Given the description of an element on the screen output the (x, y) to click on. 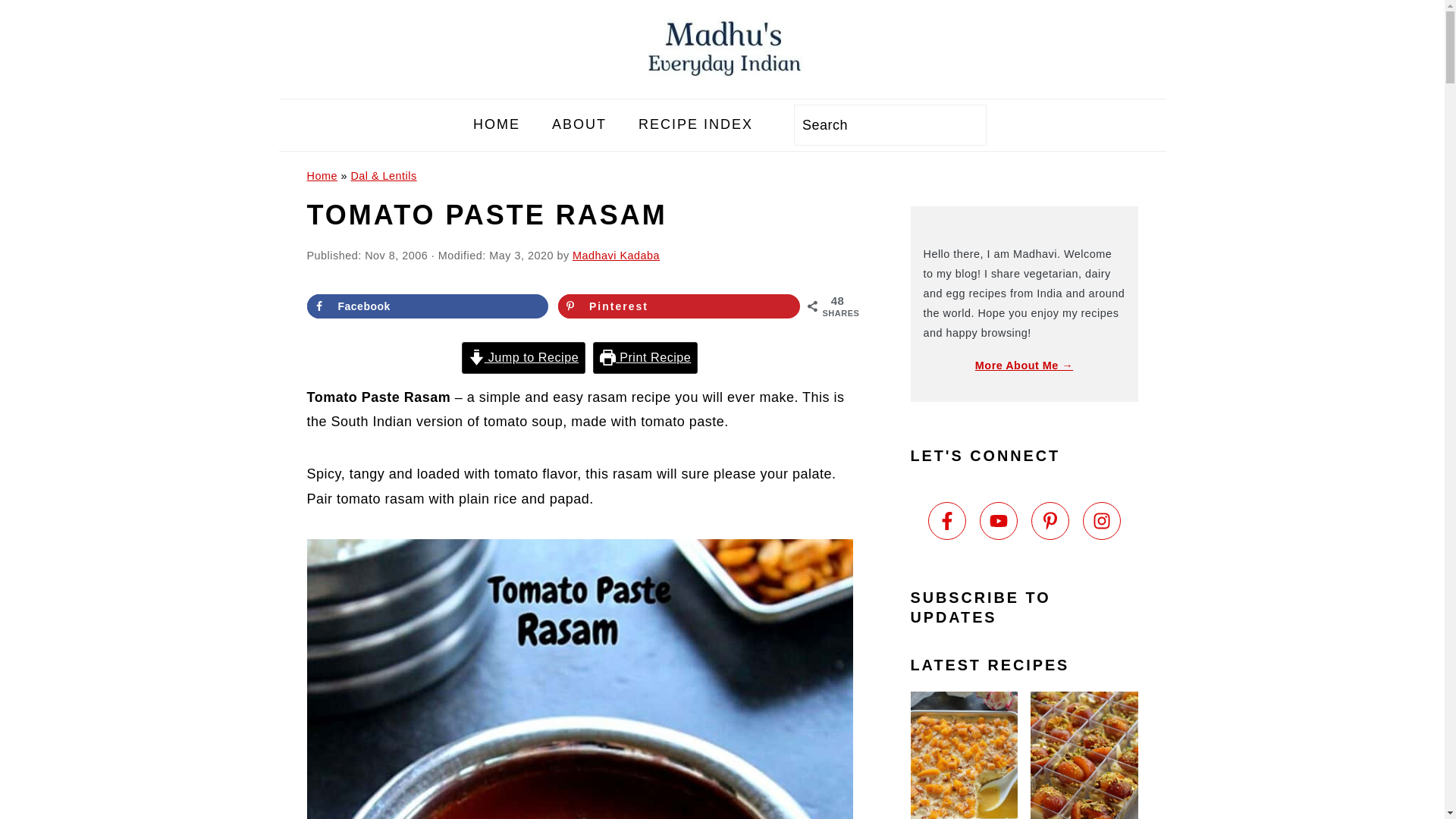
ABOUT (578, 124)
Madhavi Kadaba (615, 255)
Jump to Recipe (523, 357)
Save to Pinterest (678, 306)
RECIPE INDEX (695, 124)
Madhu's Everyday Indian (722, 48)
Madhu's Everyday Indian (722, 85)
Print Recipe (644, 357)
Facebook (426, 306)
Pinterest (678, 306)
HOME (496, 124)
Share on Facebook (426, 306)
